Given the description of an element on the screen output the (x, y) to click on. 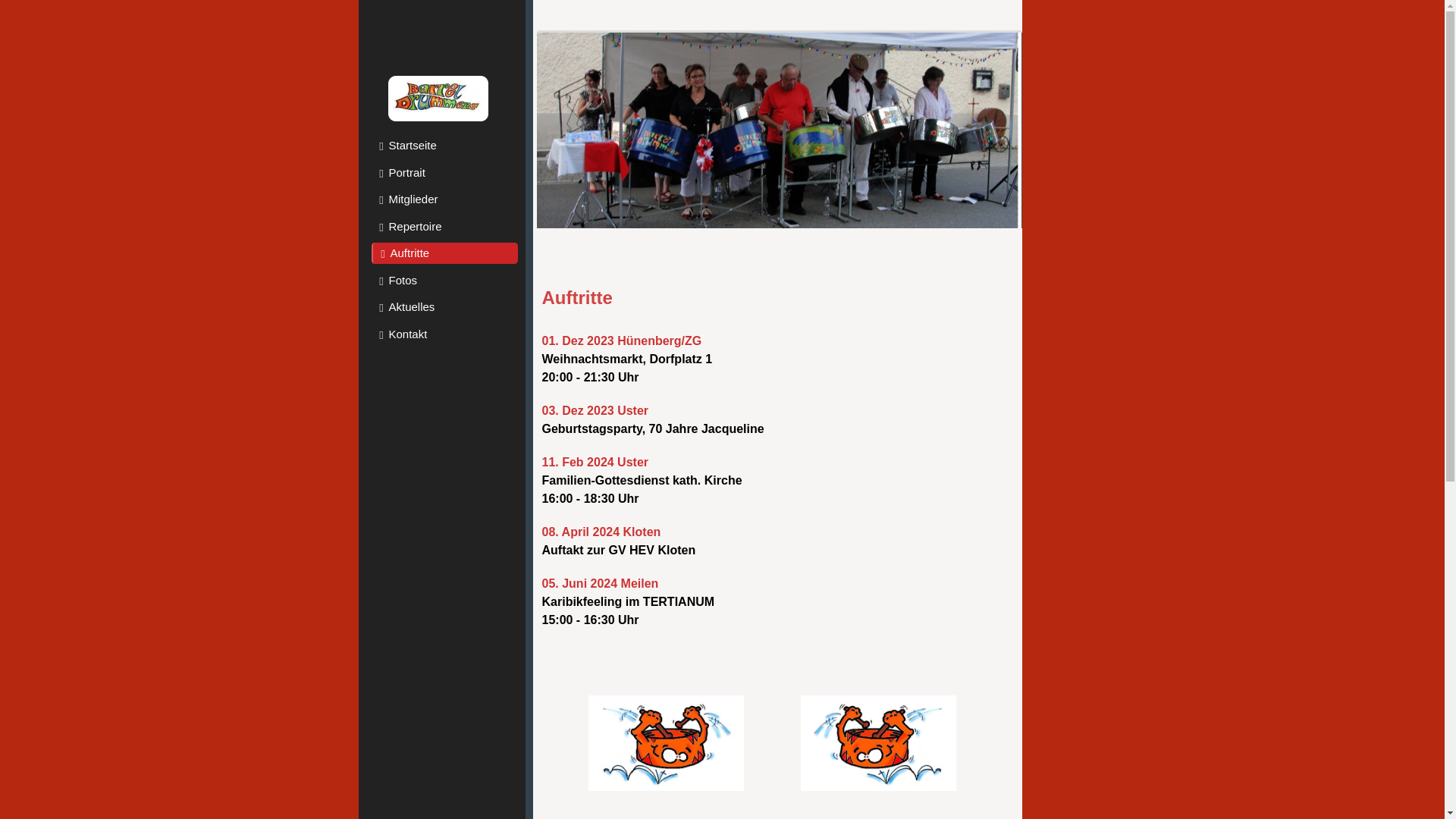
Startseite Element type: text (444, 145)
Portrait Element type: text (444, 172)
Repertoire Element type: text (444, 225)
Kontakt Element type: text (444, 333)
Fotos Element type: text (444, 280)
Auftritte Element type: text (444, 252)
Aktuelles Element type: text (444, 306)
Mitglieder Element type: text (444, 199)
